Given the description of an element on the screen output the (x, y) to click on. 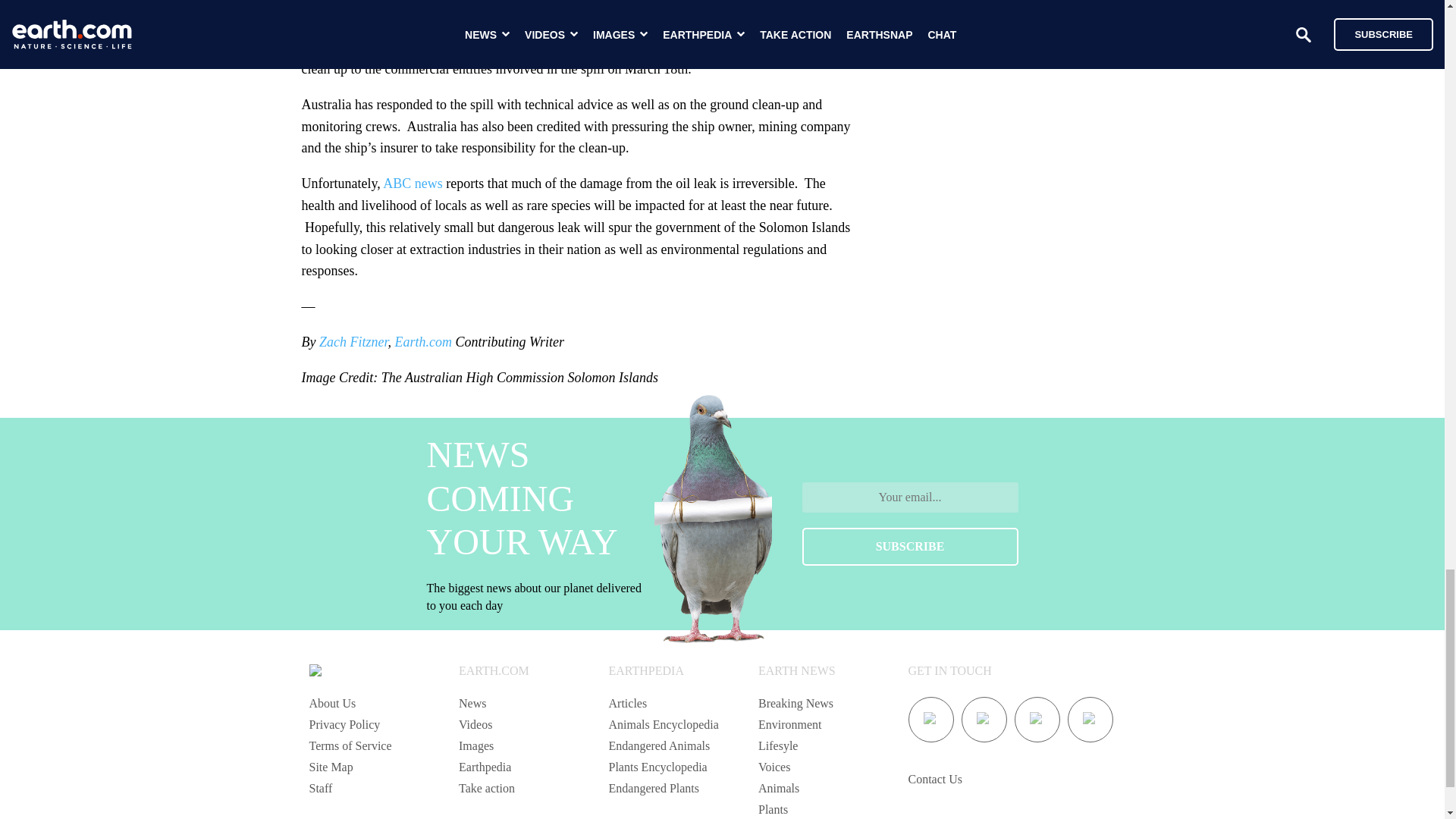
ABC news (412, 183)
Earth.com (422, 341)
Zach Fitzner (353, 341)
